Given the description of an element on the screen output the (x, y) to click on. 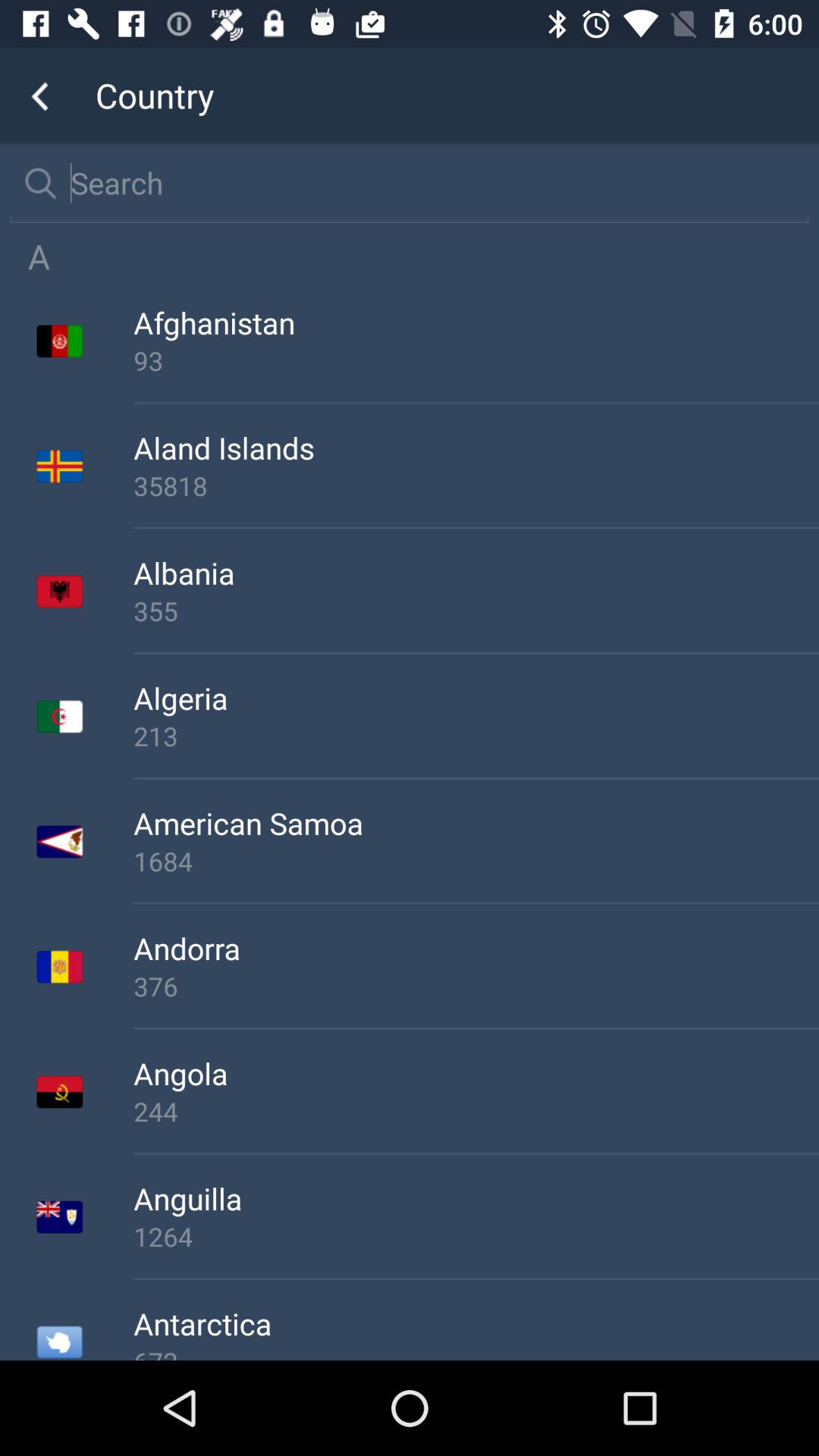
search for country (429, 183)
